Given the description of an element on the screen output the (x, y) to click on. 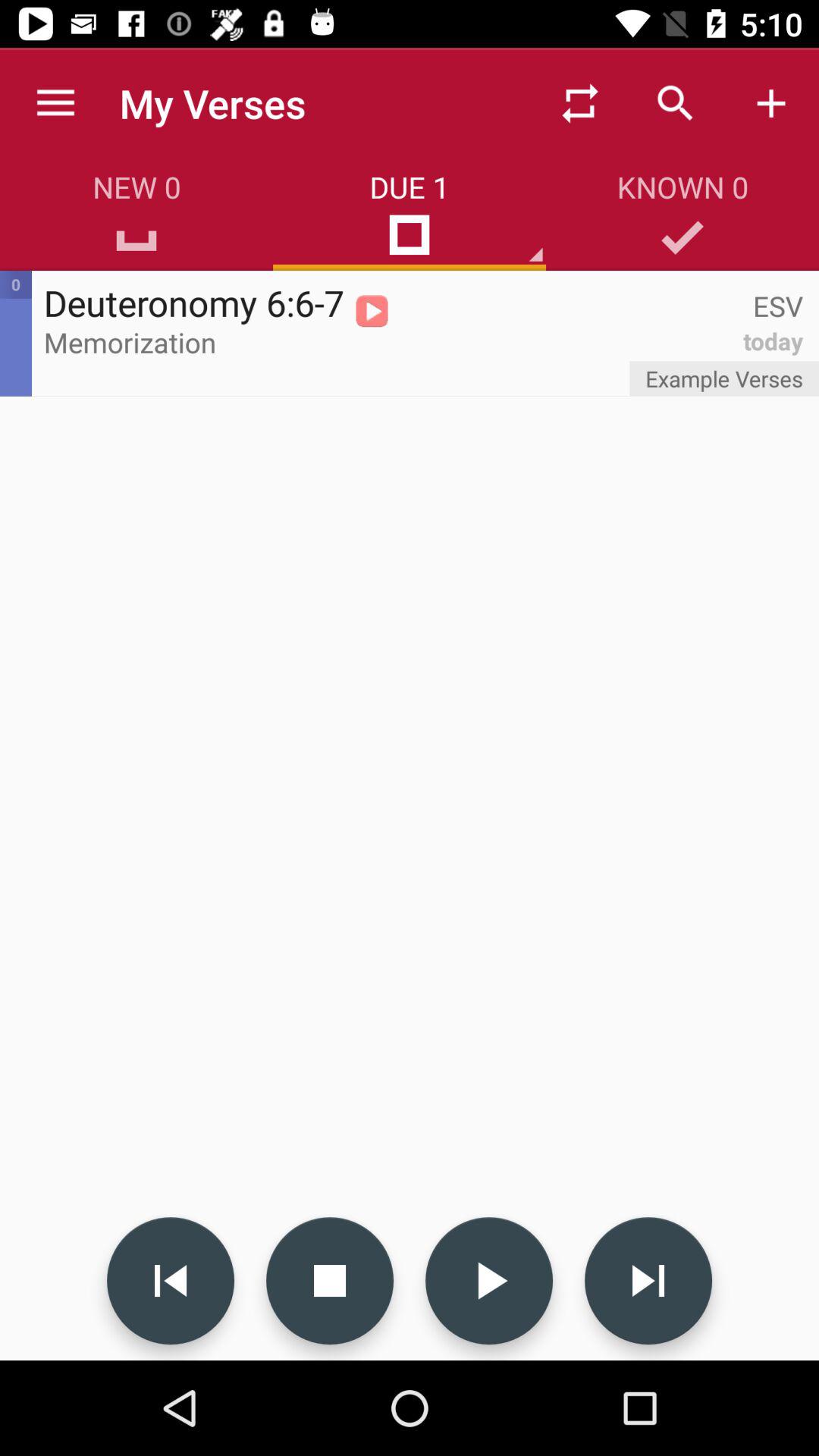
fast forward (648, 1280)
